Given the description of an element on the screen output the (x, y) to click on. 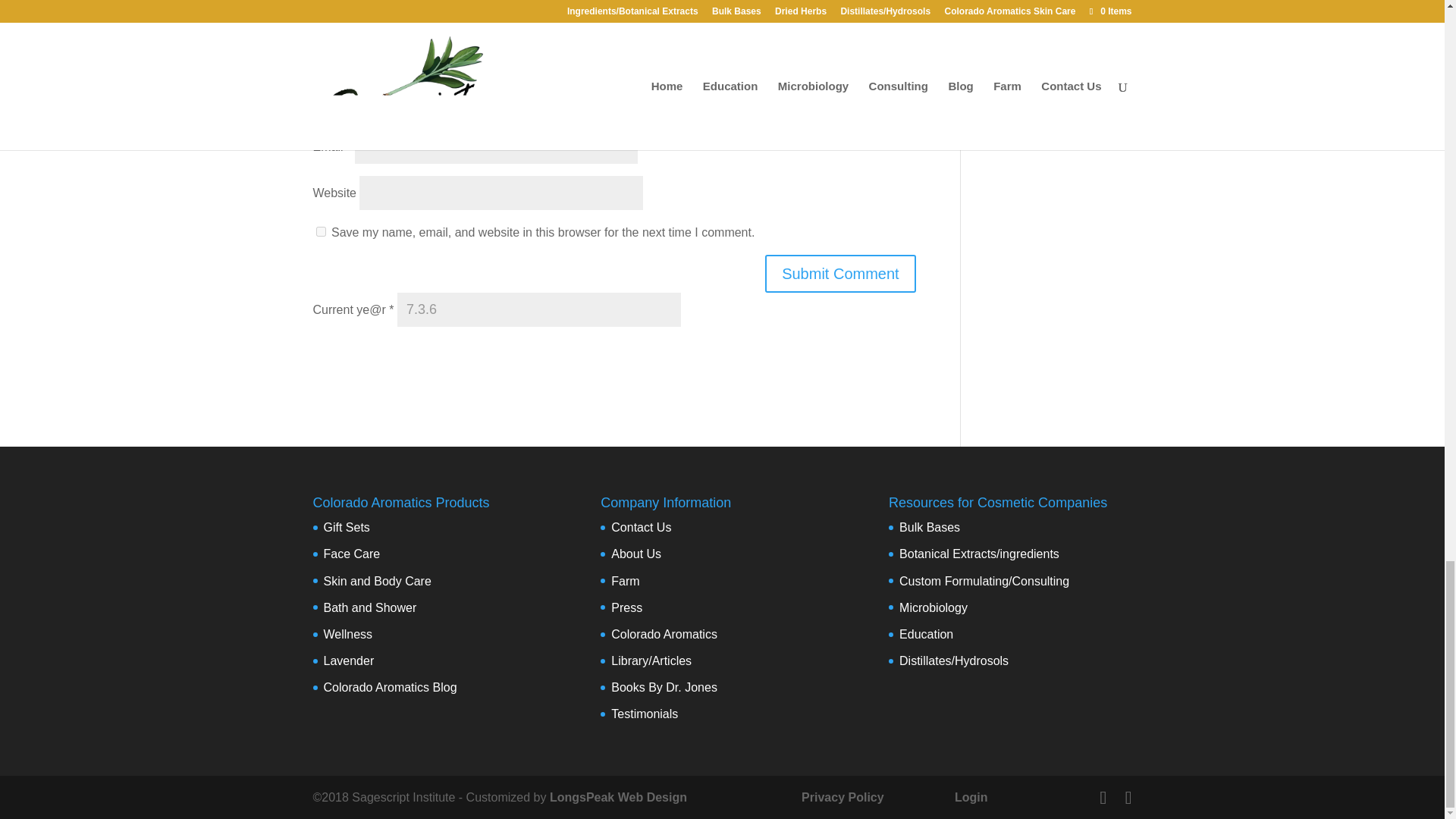
Contact Us (641, 526)
Bath and Shower (369, 607)
Farm (625, 581)
Submit Comment (840, 273)
yes (319, 231)
About Us (636, 553)
Press (626, 607)
7.3.6 (539, 309)
Submit Comment (840, 273)
Gift Sets (346, 526)
